Given the description of an element on the screen output the (x, y) to click on. 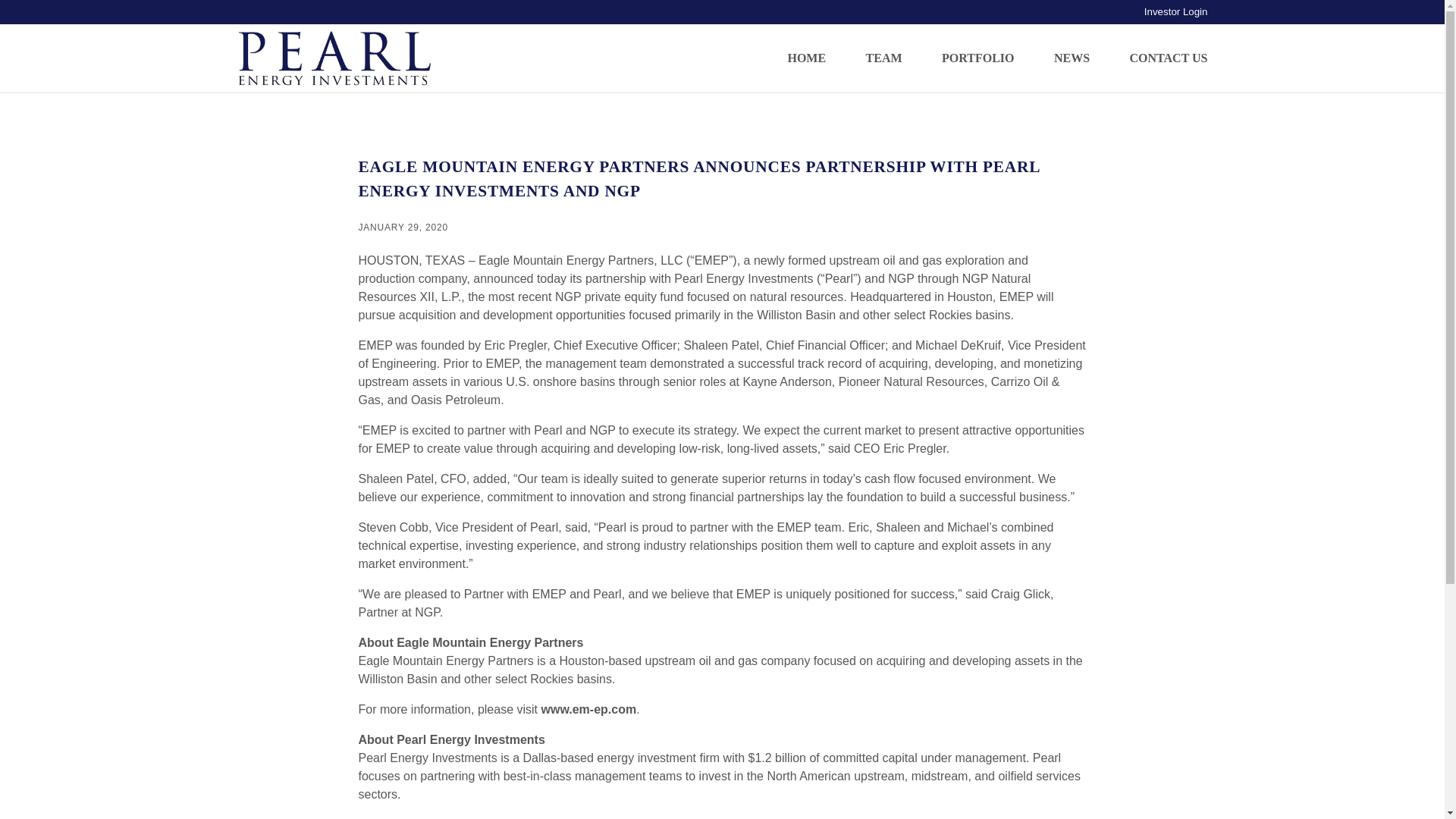
Investor Login (1176, 11)
Home (332, 58)
PORTFOLIO (977, 50)
www.em-ep.com (588, 708)
CONTACT US (1160, 50)
TEAM (883, 50)
NEWS (1071, 50)
HOME (806, 50)
